Given the description of an element on the screen output the (x, y) to click on. 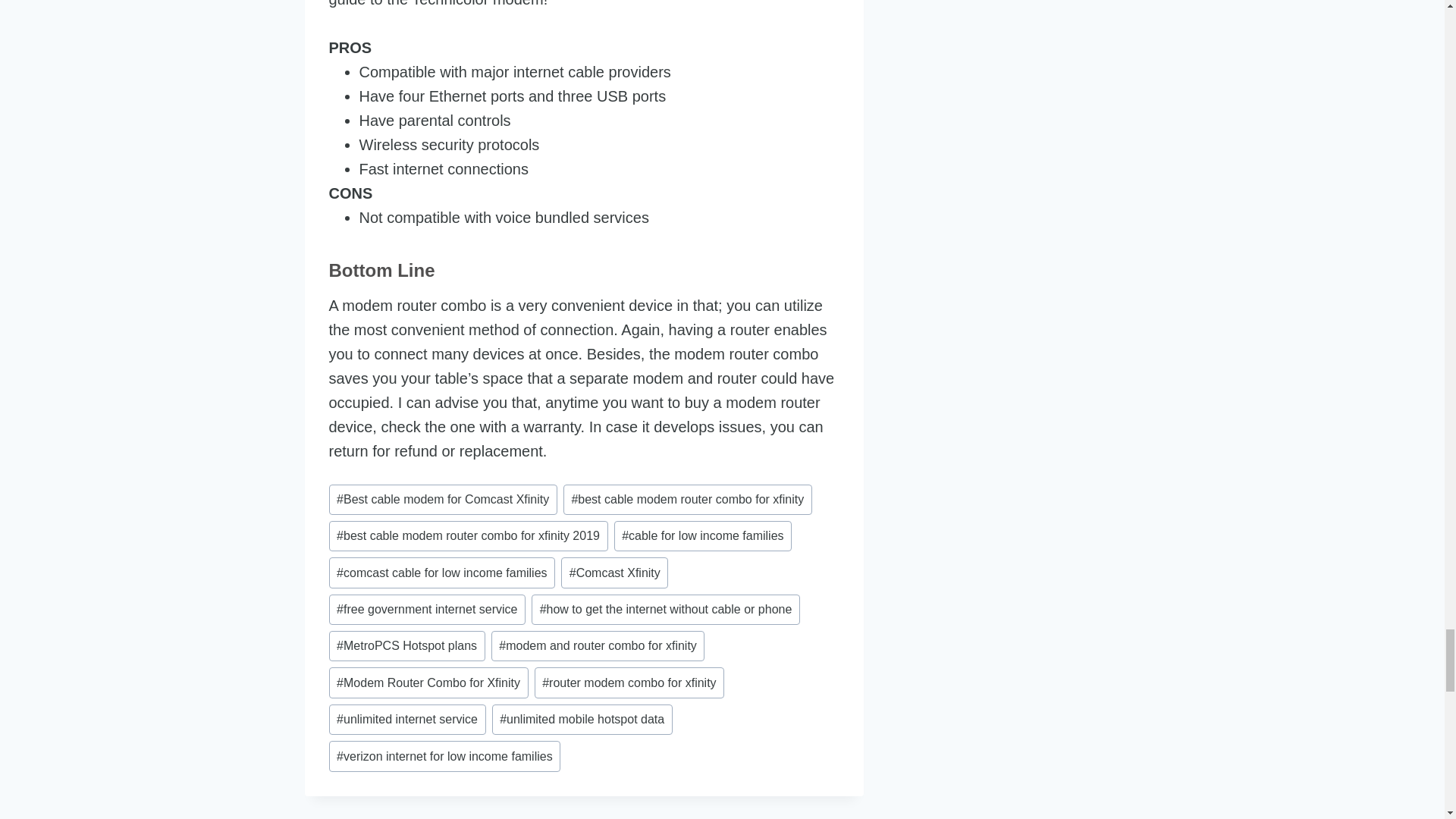
cable for low income families (703, 535)
router modem combo for xfinity (629, 682)
Modem Router Combo for Xfinity (428, 682)
best cable modem router combo for xfinity 2019 (468, 535)
modem and router combo for xfinity (598, 645)
verizon internet for low income families (444, 756)
free government internet service (427, 609)
unlimited internet service (407, 719)
MetroPCS Hotspot plans (406, 645)
unlimited mobile hotspot data (582, 719)
comcast cable for low income families (442, 572)
Best cable modem for Comcast Xfinity (443, 499)
best cable modem router combo for xfinity (687, 499)
how to get the internet without cable or phone (665, 609)
Comcast Xfinity (614, 572)
